Given the description of an element on the screen output the (x, y) to click on. 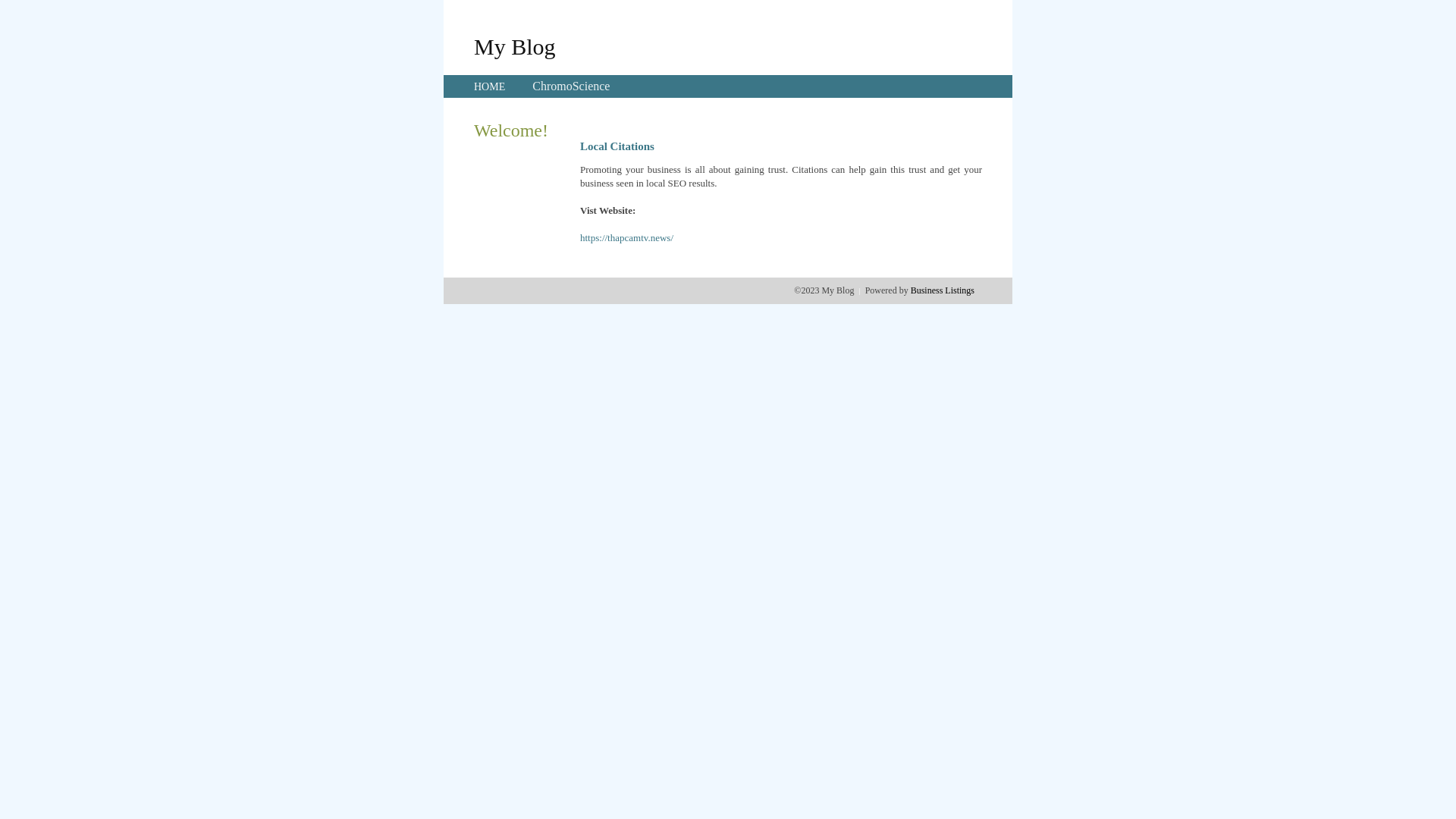
HOME Element type: text (489, 86)
https://thapcamtv.news/ Element type: text (626, 237)
My Blog Element type: text (514, 46)
Business Listings Element type: text (942, 290)
ChromoScience Element type: text (570, 85)
